Given the description of an element on the screen output the (x, y) to click on. 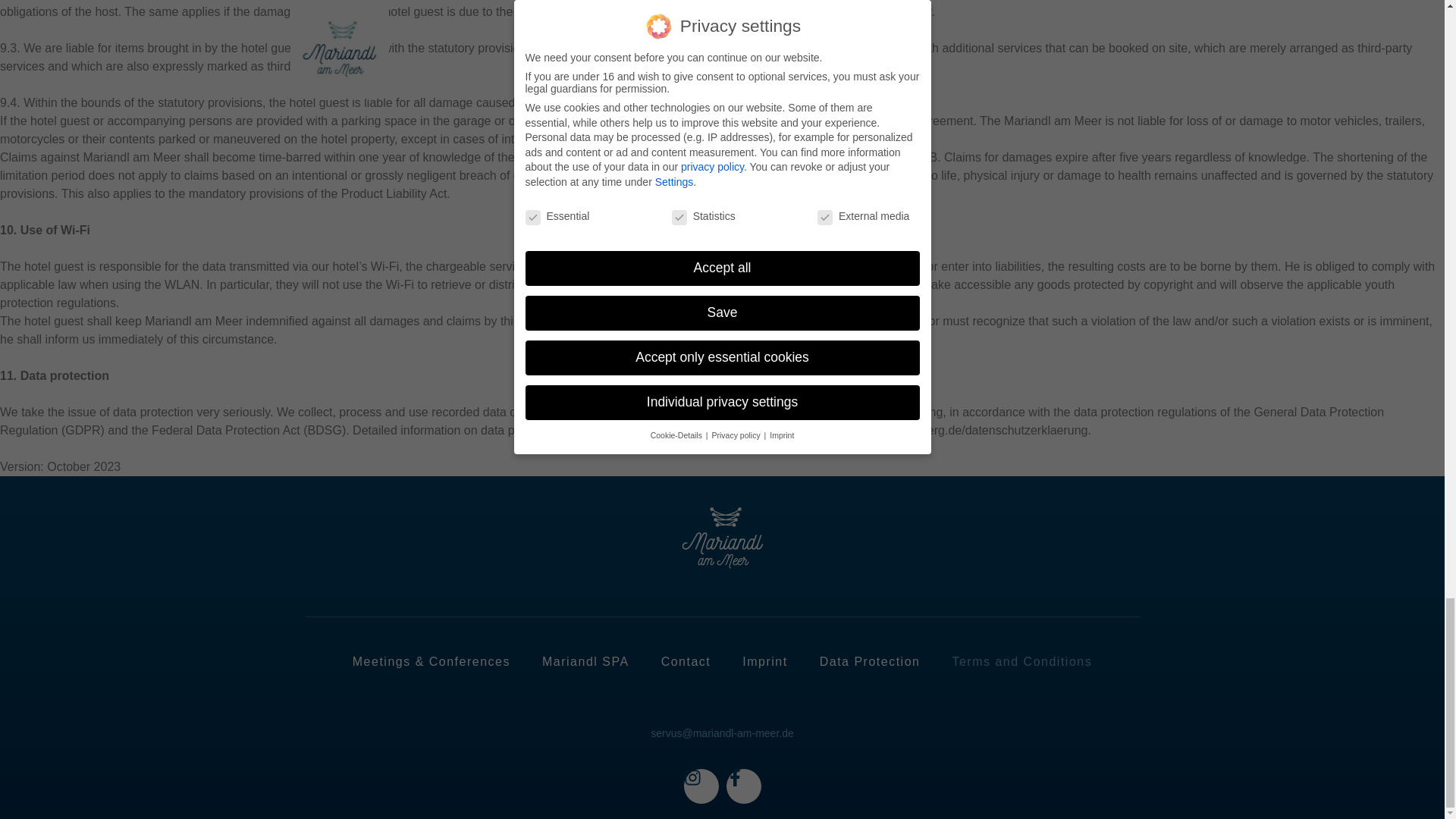
Terms and Conditions (1021, 661)
Contact (686, 661)
Imprint (764, 661)
Data Protection (870, 661)
Mariandl SPA (586, 661)
